Given the description of an element on the screen output the (x, y) to click on. 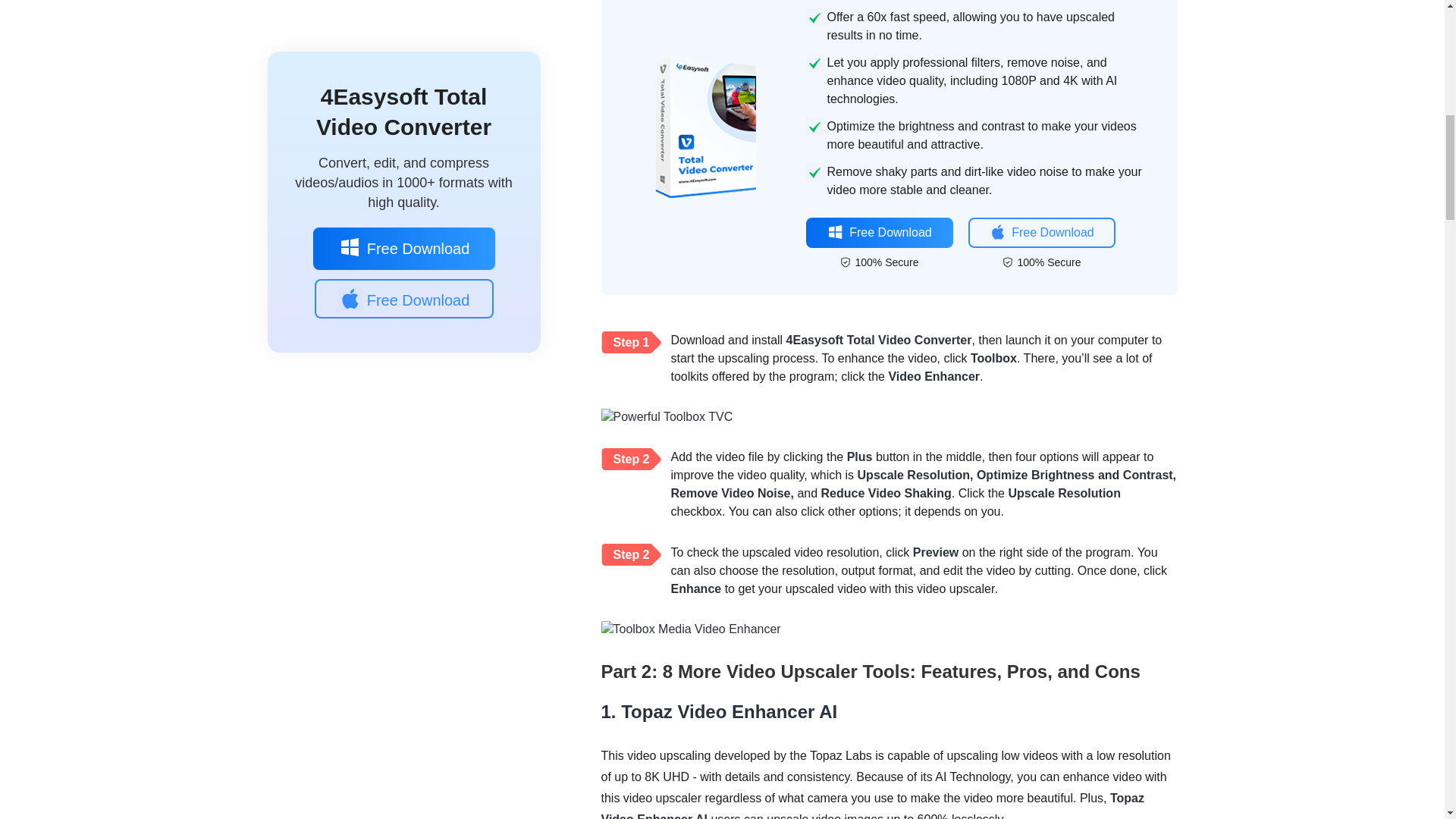
Free Download (1041, 232)
Free Download (878, 232)
